Given the description of an element on the screen output the (x, y) to click on. 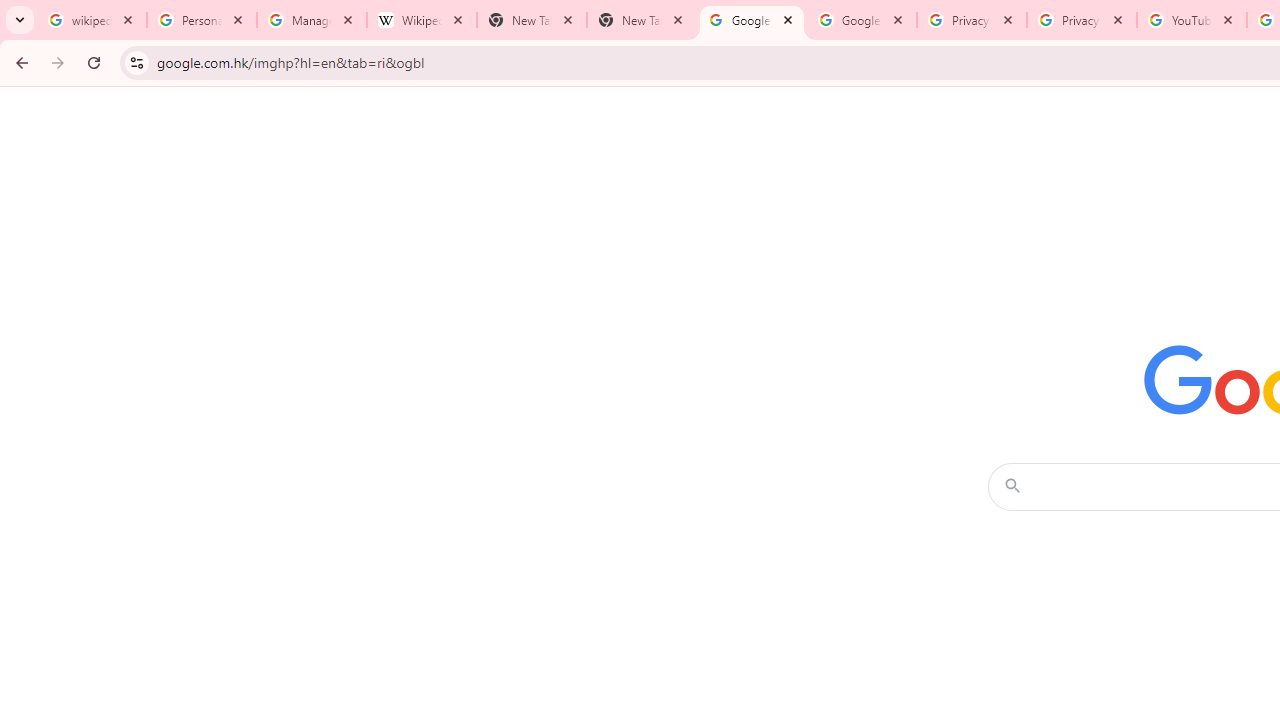
View site information (136, 62)
Forward (57, 62)
Wikipedia:Edit requests - Wikipedia (422, 20)
Close (1227, 19)
New Tab (642, 20)
Google Images (752, 20)
System (10, 11)
Personalization & Google Search results - Google Search Help (202, 20)
Back (19, 62)
System (10, 11)
Search tabs (20, 20)
Reload (93, 62)
